Given the description of an element on the screen output the (x, y) to click on. 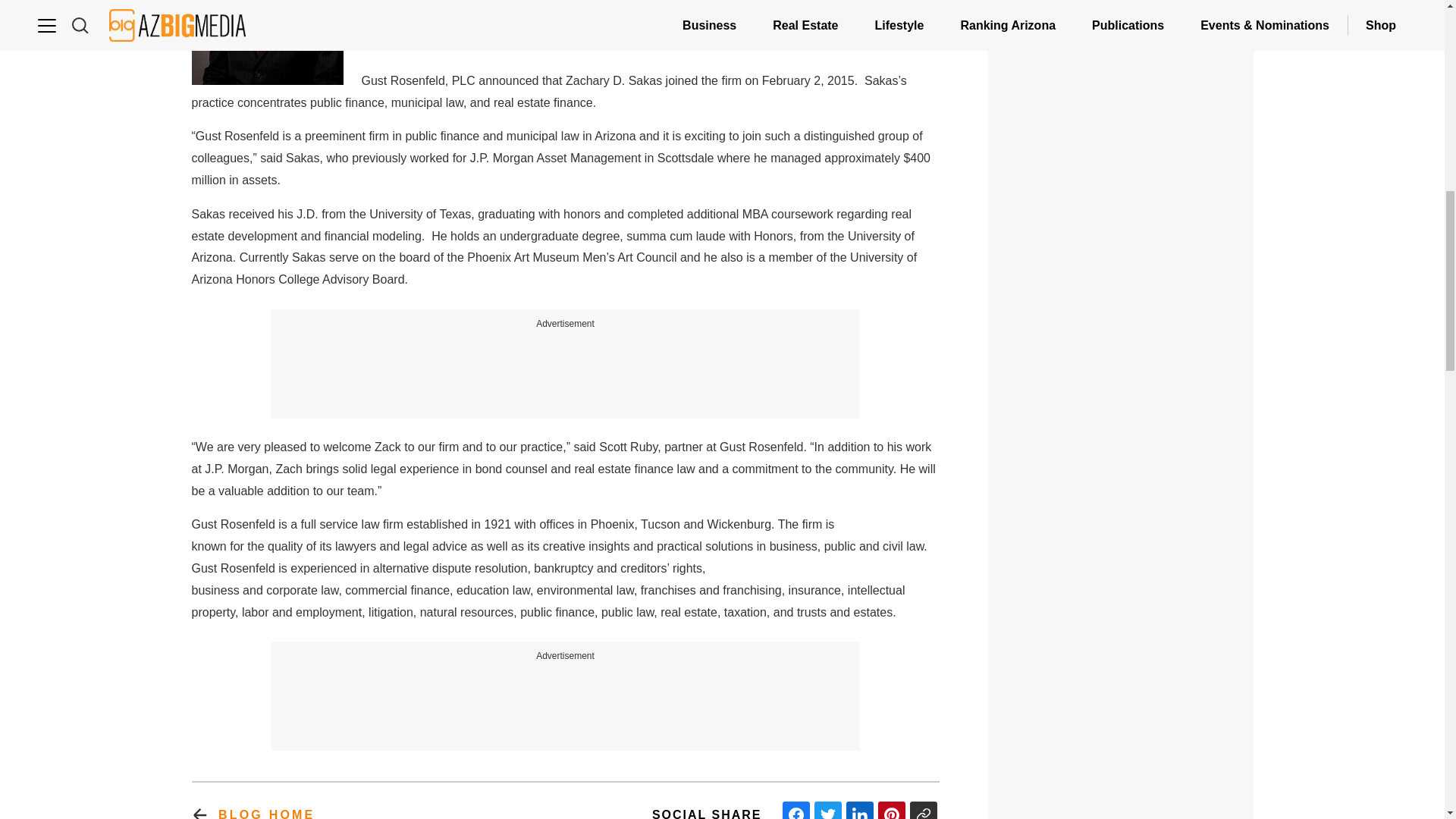
3rd party ad content (565, 366)
3rd party ad content (565, 698)
